Given the description of an element on the screen output the (x, y) to click on. 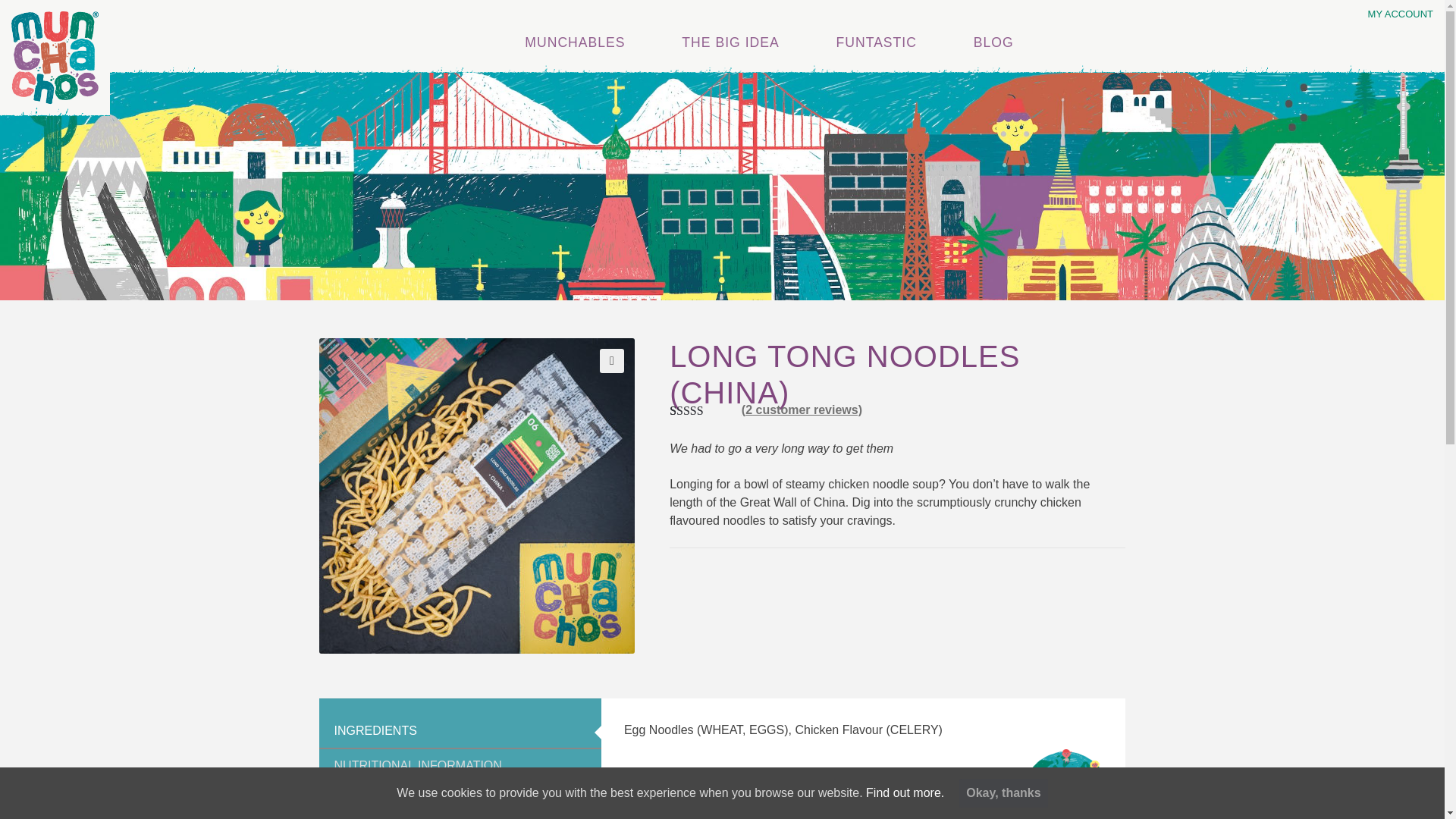
Munchachos Packshot China Munchable Long Tong Noodles (476, 495)
MY ACCOUNT (1400, 13)
BLOG (994, 32)
NUTRITIONAL INFORMATION (459, 765)
FUNTASTIC (876, 32)
INGREDIENTS (459, 730)
THE BIG IDEA (730, 32)
MUNCHABLES (574, 32)
